Given the description of an element on the screen output the (x, y) to click on. 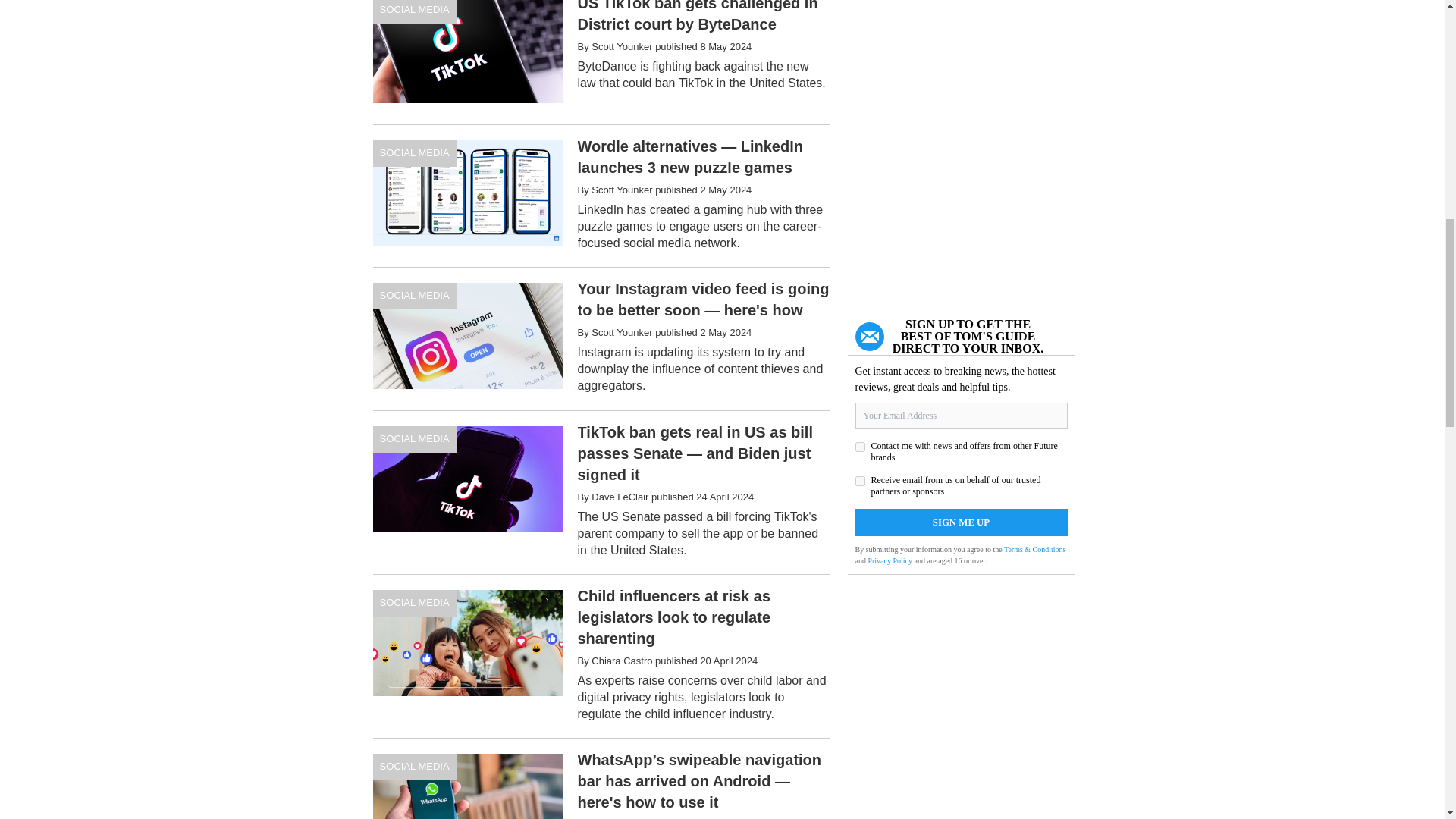
Sign me up (961, 522)
